Given the description of an element on the screen output the (x, y) to click on. 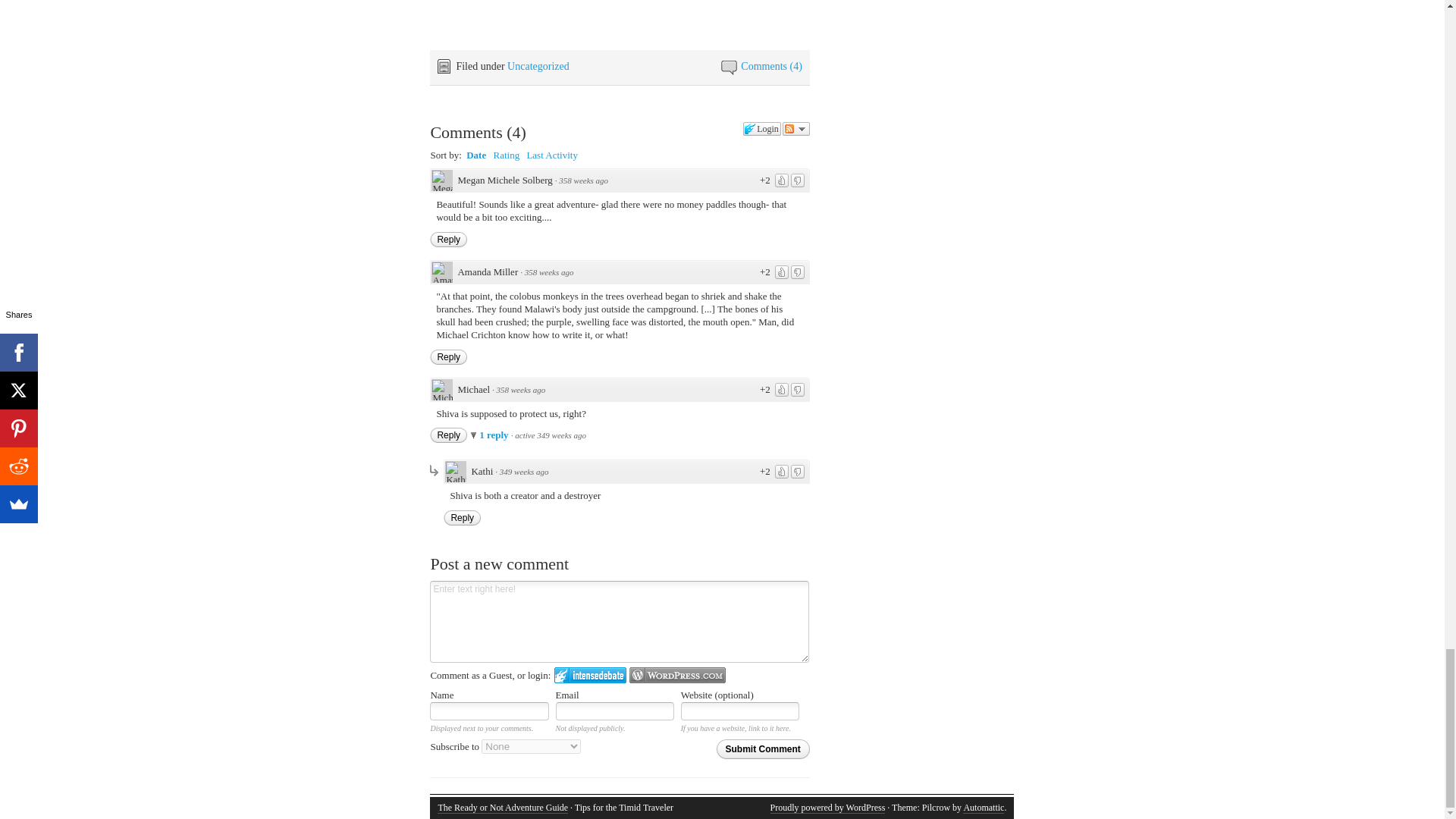
A Semantic Personal Publishing Platform (827, 808)
Uncategorized (537, 66)
Comment Permalink (523, 470)
Login (761, 128)
Comment Permalink (521, 388)
Comment Permalink (548, 271)
Follow the discussion (796, 128)
The Ready or Not Adventure Guide (502, 808)
Comment Permalink (583, 180)
